Given the description of an element on the screen output the (x, y) to click on. 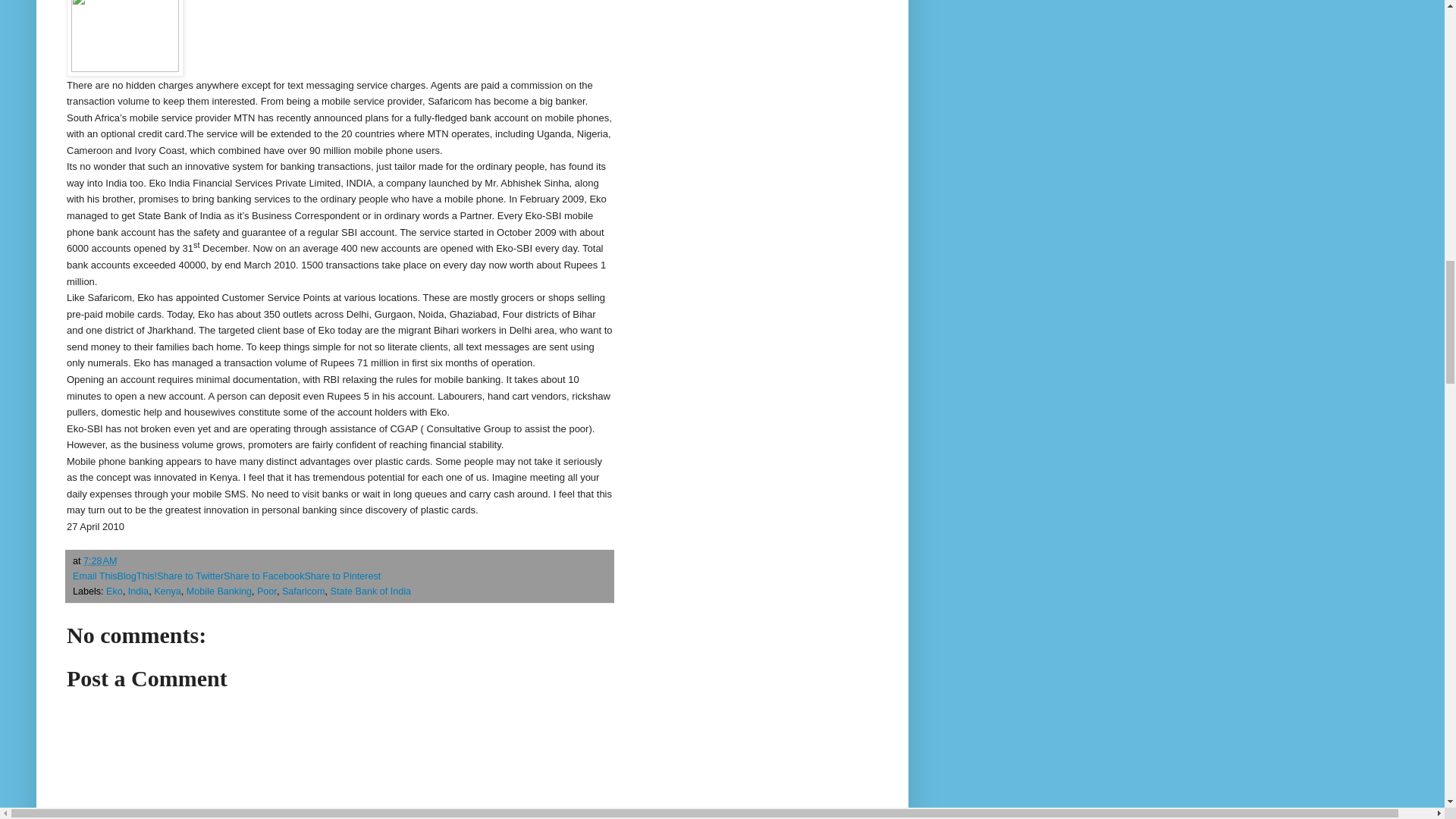
Email Post (126, 561)
Email This (94, 575)
Email This (94, 575)
Share to Twitter (190, 575)
BlogThis! (137, 575)
Poor (266, 591)
Mobile Banking (218, 591)
Share to Facebook (264, 575)
India (138, 591)
Share to Pinterest (342, 575)
Eko (114, 591)
Share to Pinterest (342, 575)
safaricom (124, 38)
Kenya (167, 591)
